Given the description of an element on the screen output the (x, y) to click on. 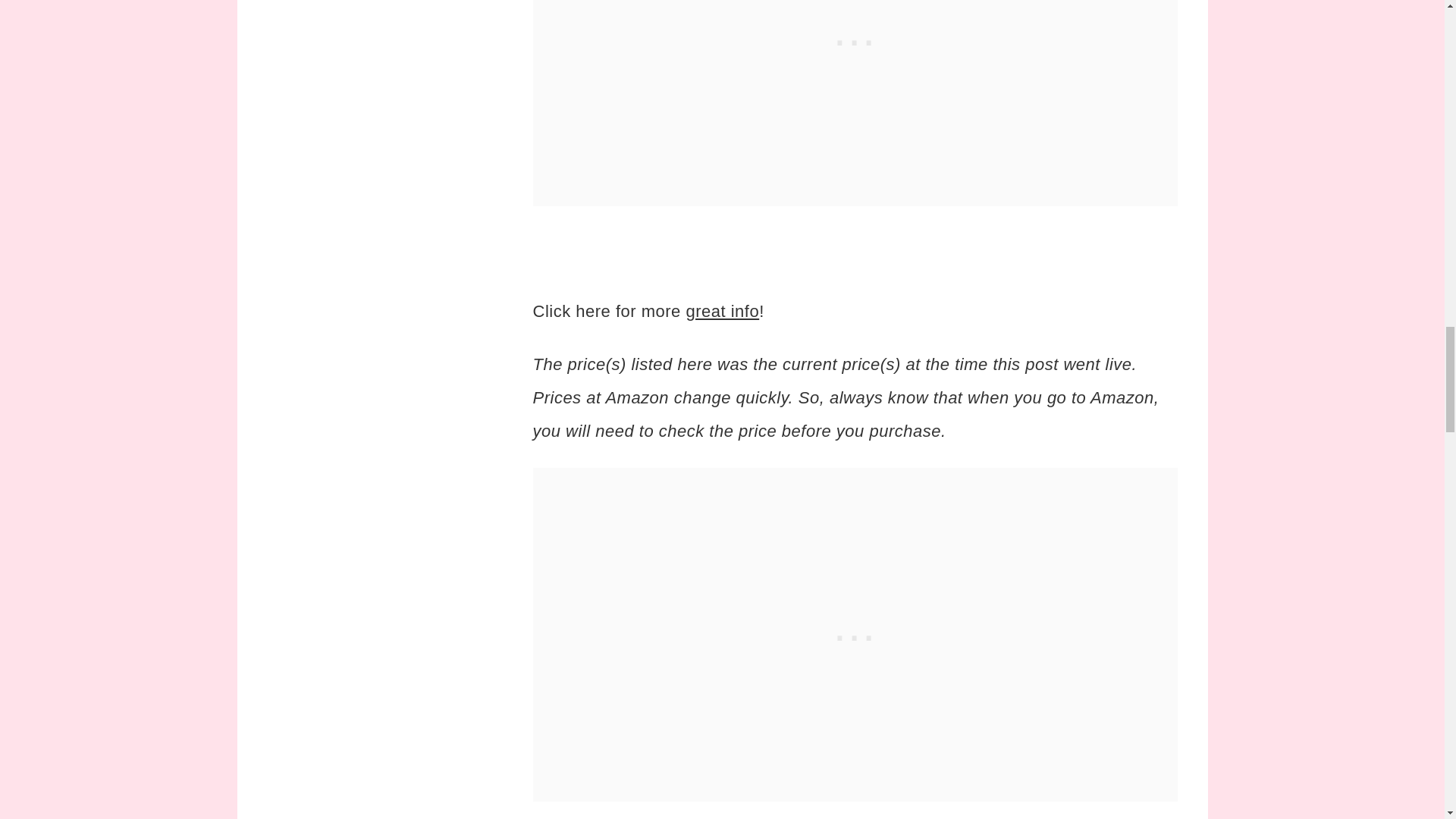
great info (721, 311)
